Given the description of an element on the screen output the (x, y) to click on. 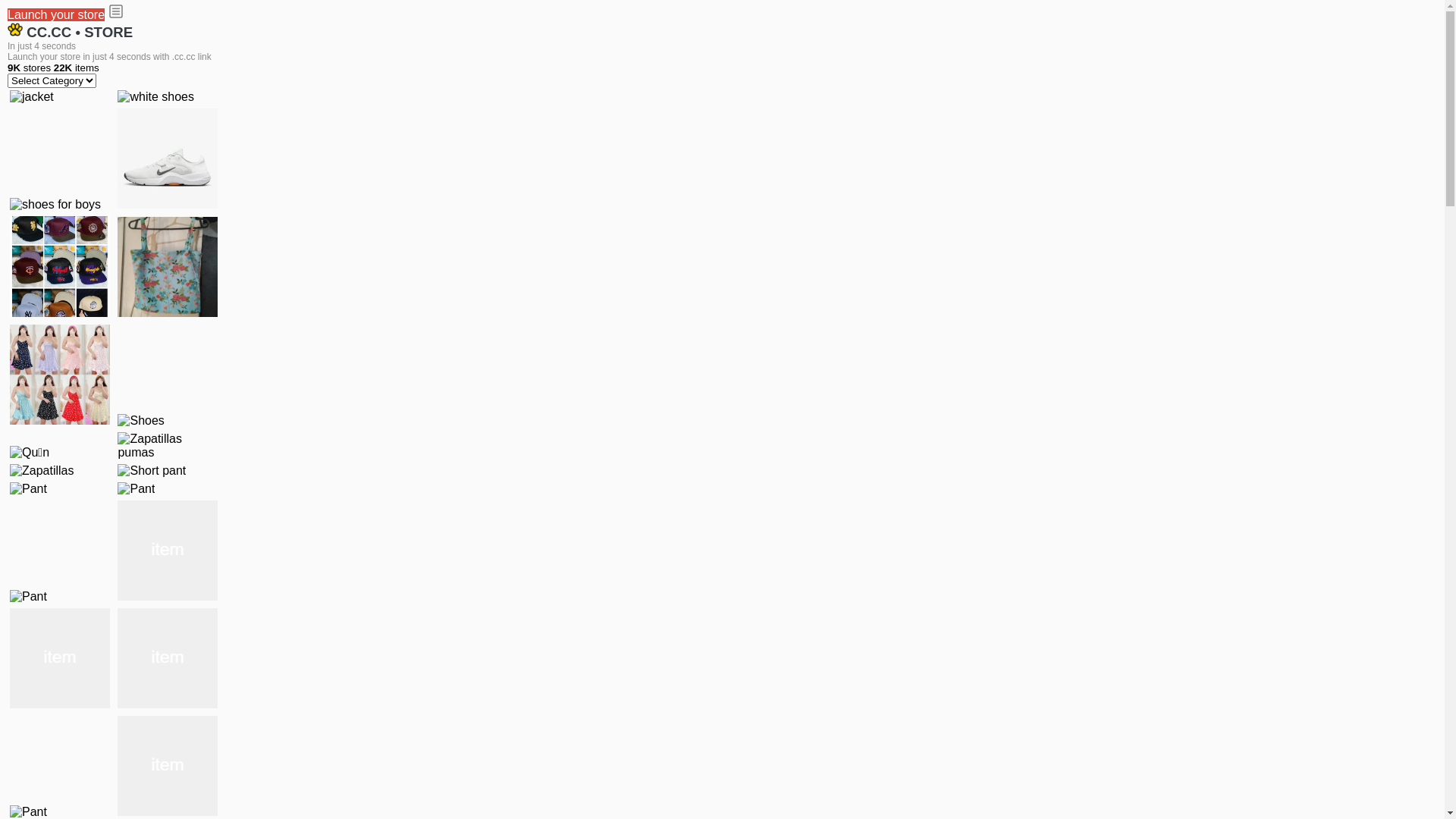
Shoes for boys Element type: hover (167, 158)
Pant Element type: hover (167, 658)
Pant Element type: hover (135, 488)
Pant Element type: hover (28, 596)
Zapatillas pumas Element type: hover (167, 445)
Short pant Element type: hover (151, 470)
Launch your store Element type: text (55, 14)
Things we need Element type: hover (59, 266)
Pant Element type: hover (59, 658)
Pant Element type: hover (28, 488)
Pant Element type: hover (167, 550)
Dress/square nect top Element type: hover (59, 374)
Pant Element type: hover (167, 765)
jacket Element type: hover (31, 96)
Zapatillas Element type: hover (41, 470)
Ukay cloth Element type: hover (167, 266)
Shoes Element type: hover (140, 420)
white shoes Element type: hover (155, 96)
shoes for boys Element type: hover (54, 204)
